Given the description of an element on the screen output the (x, y) to click on. 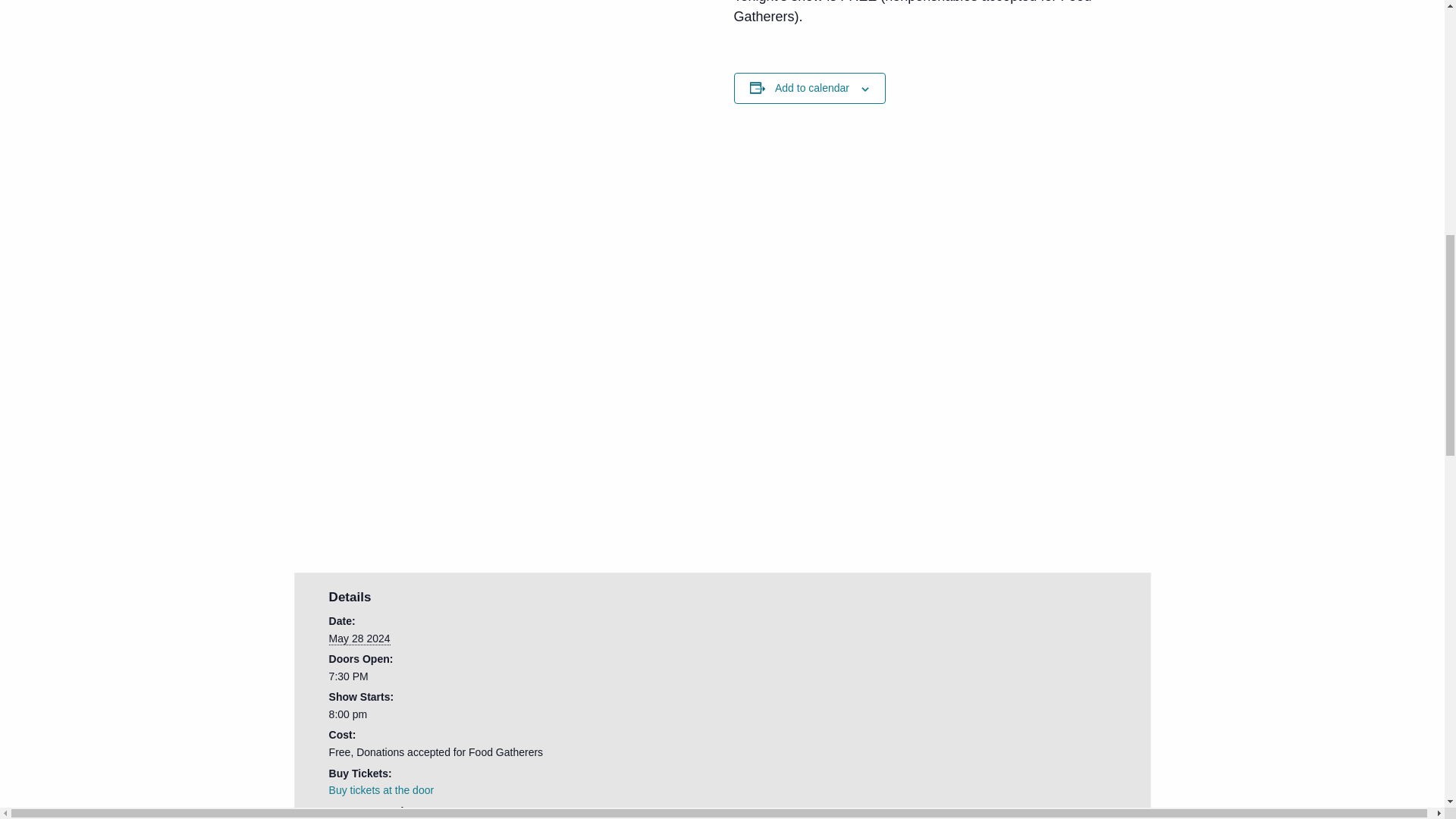
Spotify Embed: Mouths of Babes (507, 421)
2024-05-28 (359, 638)
2024-05-28 (461, 713)
